Given the description of an element on the screen output the (x, y) to click on. 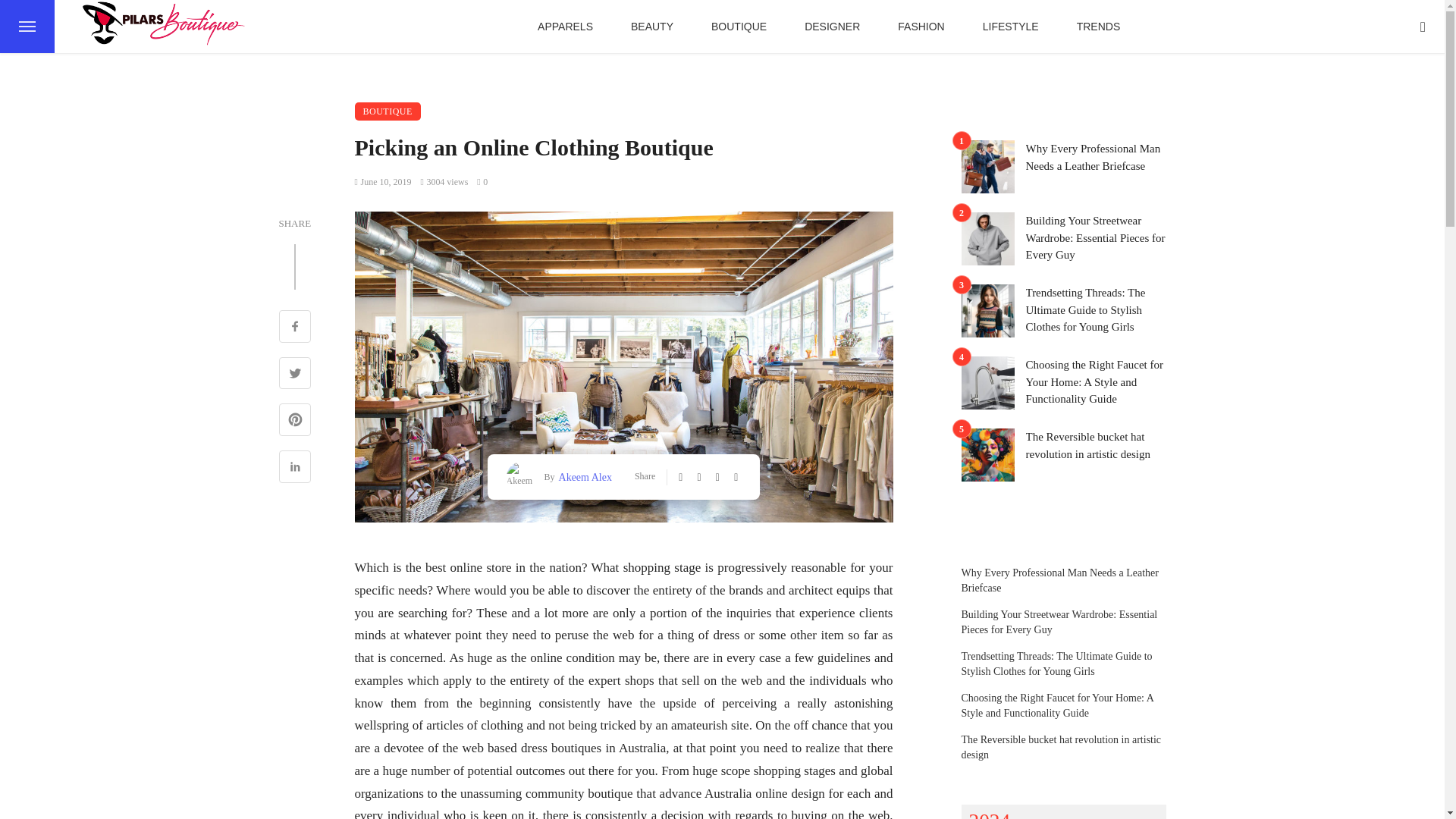
Share on Pinterest (295, 421)
June 10, 2019 at 3:54 am (383, 181)
Posts by Akeem Alex (582, 476)
DESIGNER (832, 26)
Akeem Alex (582, 476)
TRENDS (1099, 26)
LIFESTYLE (1010, 26)
Share on Twitter (295, 375)
Share on Linkedin (295, 468)
0 Comments (482, 181)
Share on Facebook (295, 328)
FASHION (920, 26)
BOUTIQUE (739, 26)
APPARELS (564, 26)
BOUTIQUE (387, 111)
